Given the description of an element on the screen output the (x, y) to click on. 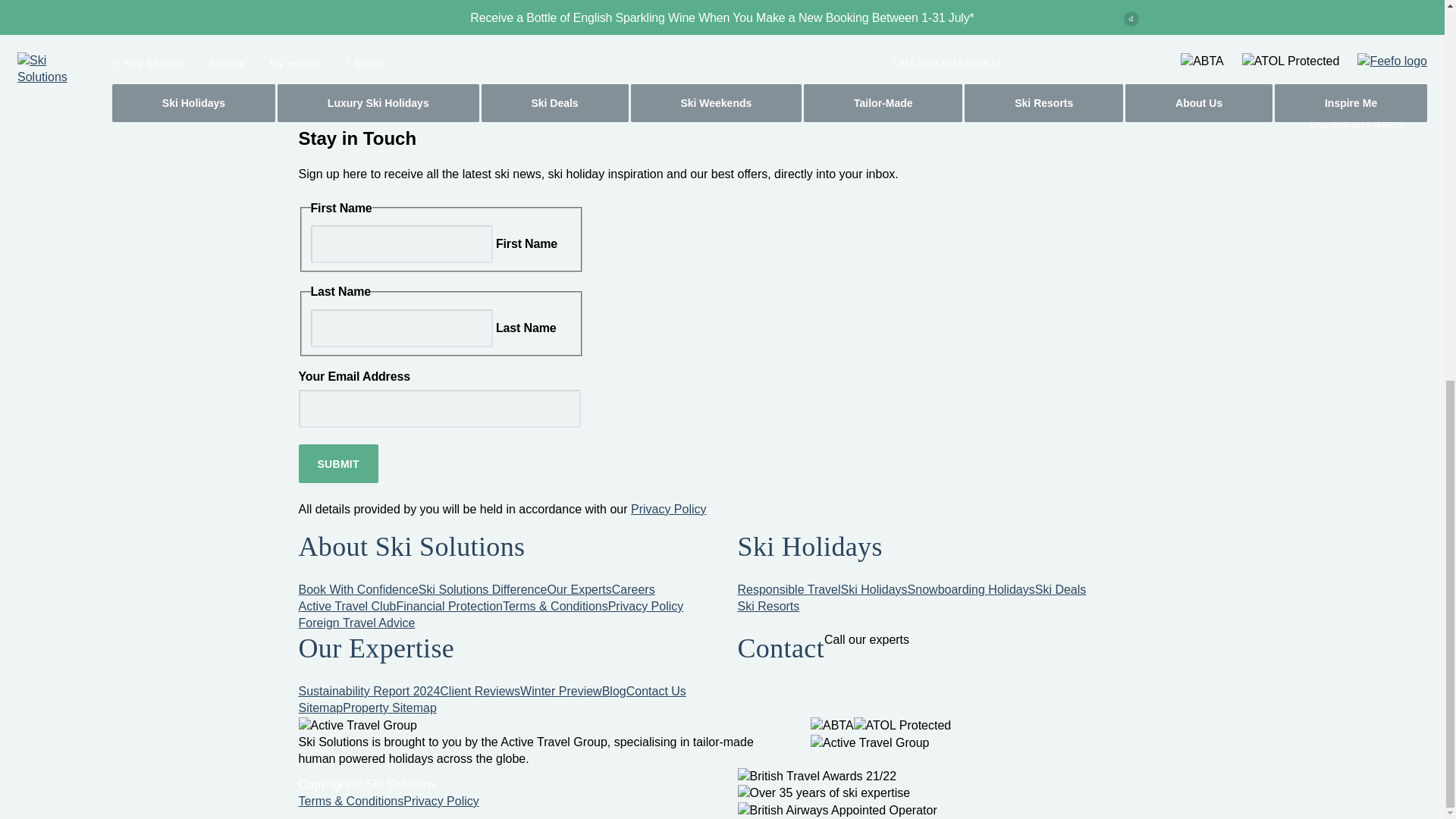
Submit (338, 463)
